Given the description of an element on the screen output the (x, y) to click on. 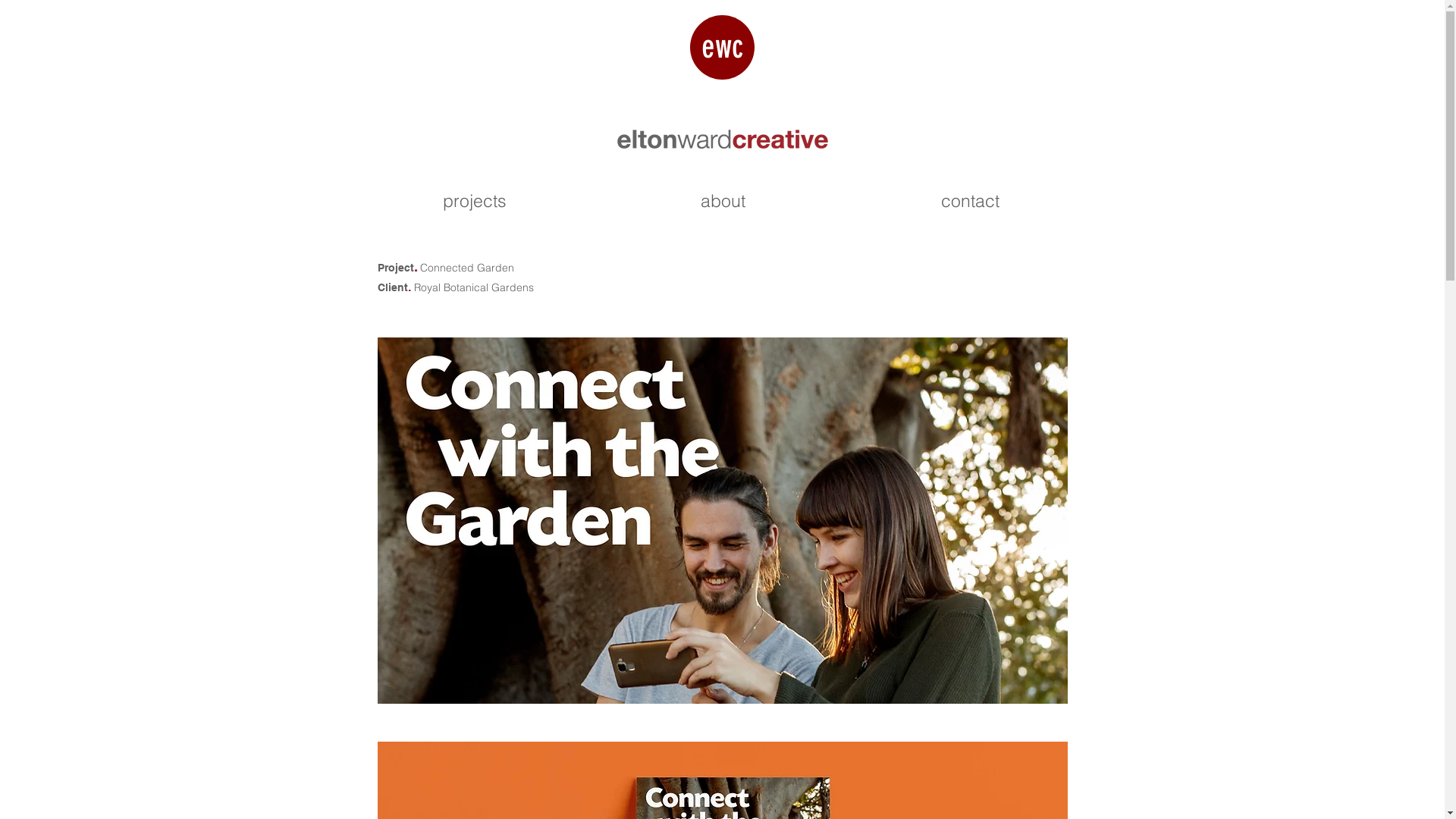
projects Element type: text (474, 199)
contact Element type: text (969, 199)
ewc Element type: text (722, 46)
about Element type: text (723, 199)
